Given the description of an element on the screen output the (x, y) to click on. 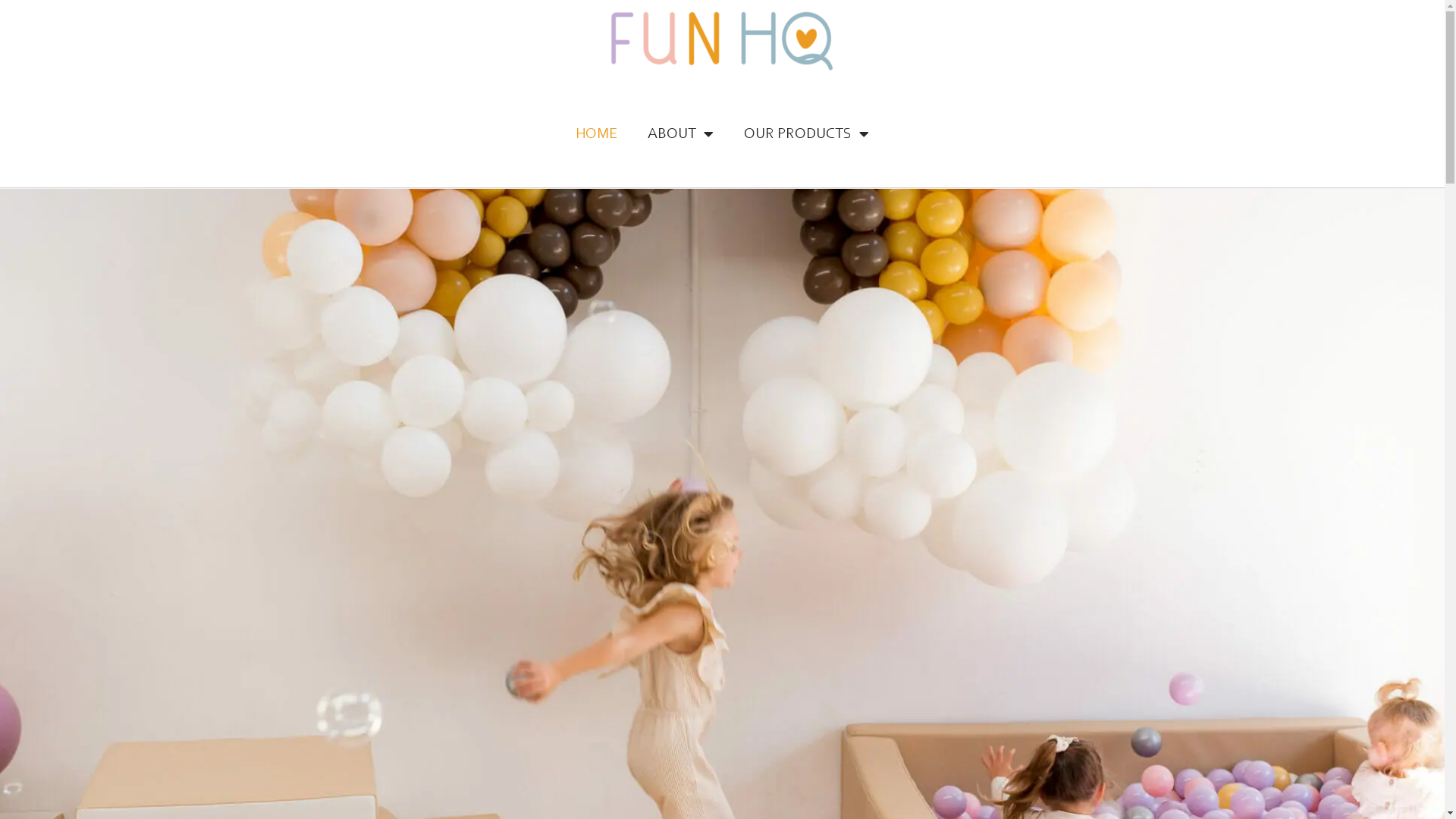
OUR PRODUCTS Element type: text (806, 133)
HOME Element type: text (596, 133)
ABOUT Element type: text (680, 133)
